Given the description of an element on the screen output the (x, y) to click on. 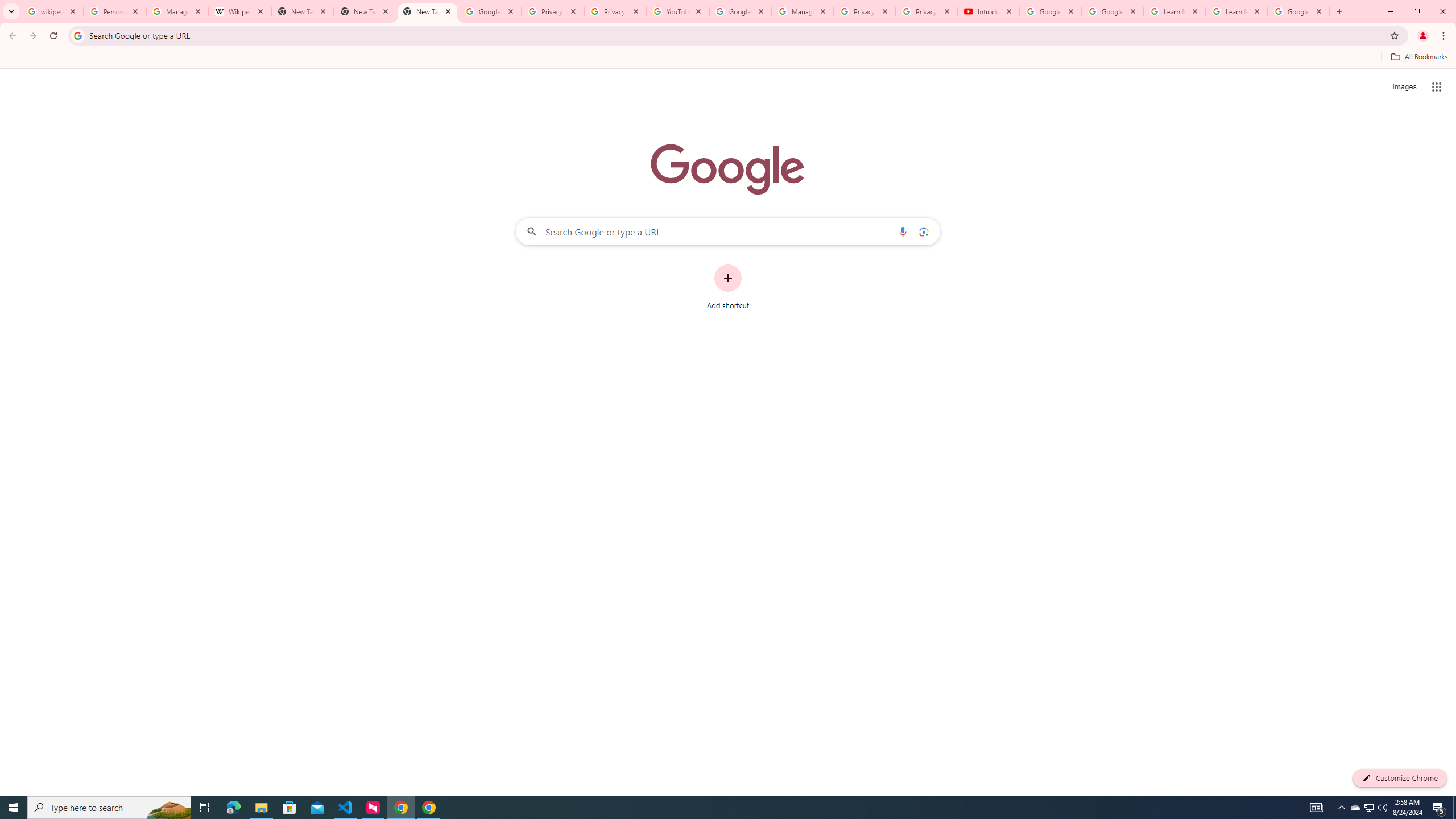
Manage your Location History - Google Search Help (177, 11)
New Tab (365, 11)
Add shortcut (727, 287)
Google Account (1298, 11)
Bookmarks (728, 58)
Google Account Help (1111, 11)
Search for Images  (1403, 87)
New Tab (427, 11)
Search by image (922, 230)
Search by voice (902, 230)
Personalization & Google Search results - Google Search Help (114, 11)
Introduction | Google Privacy Policy - YouTube (988, 11)
